Given the description of an element on the screen output the (x, y) to click on. 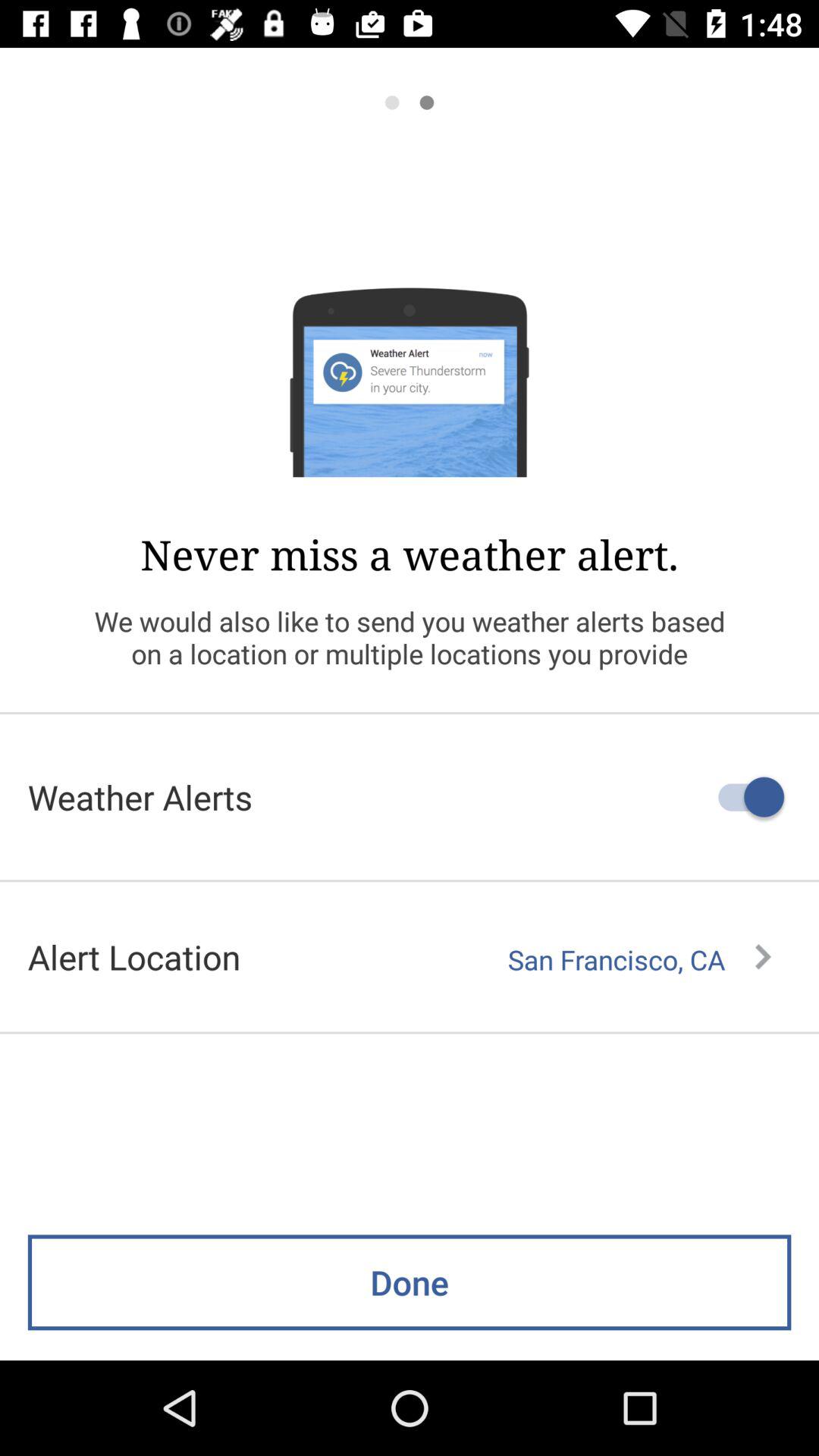
scroll to the done item (409, 1282)
